Given the description of an element on the screen output the (x, y) to click on. 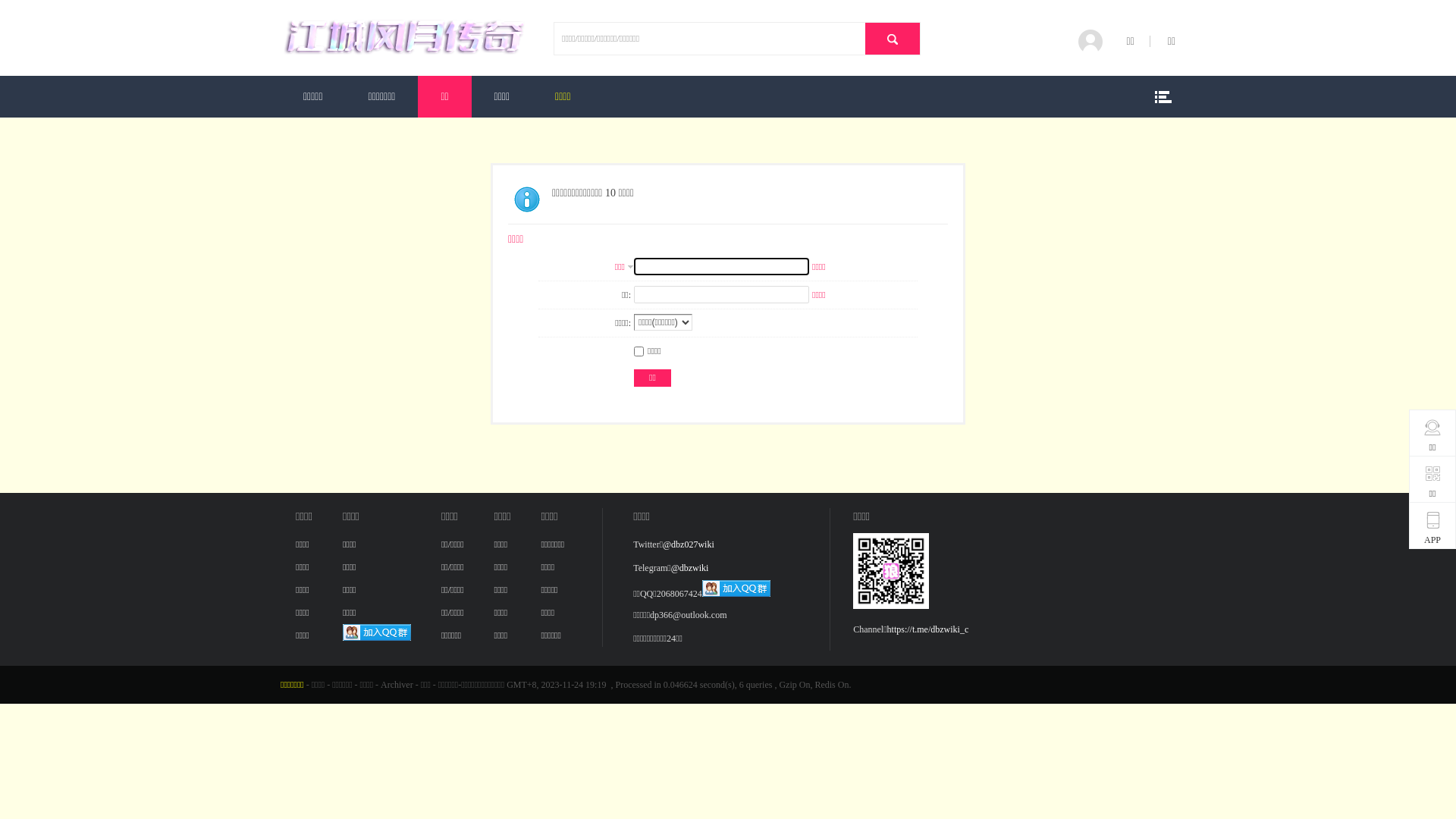
APP Element type: text (1432, 528)
Archiver Element type: text (396, 684)
@dbz027wiki Element type: text (688, 543)
https://t.me/dbzwiki_c Element type: text (928, 628)
   Element type: text (892, 38)
@dbzwiki Element type: text (690, 567)
